Given the description of an element on the screen output the (x, y) to click on. 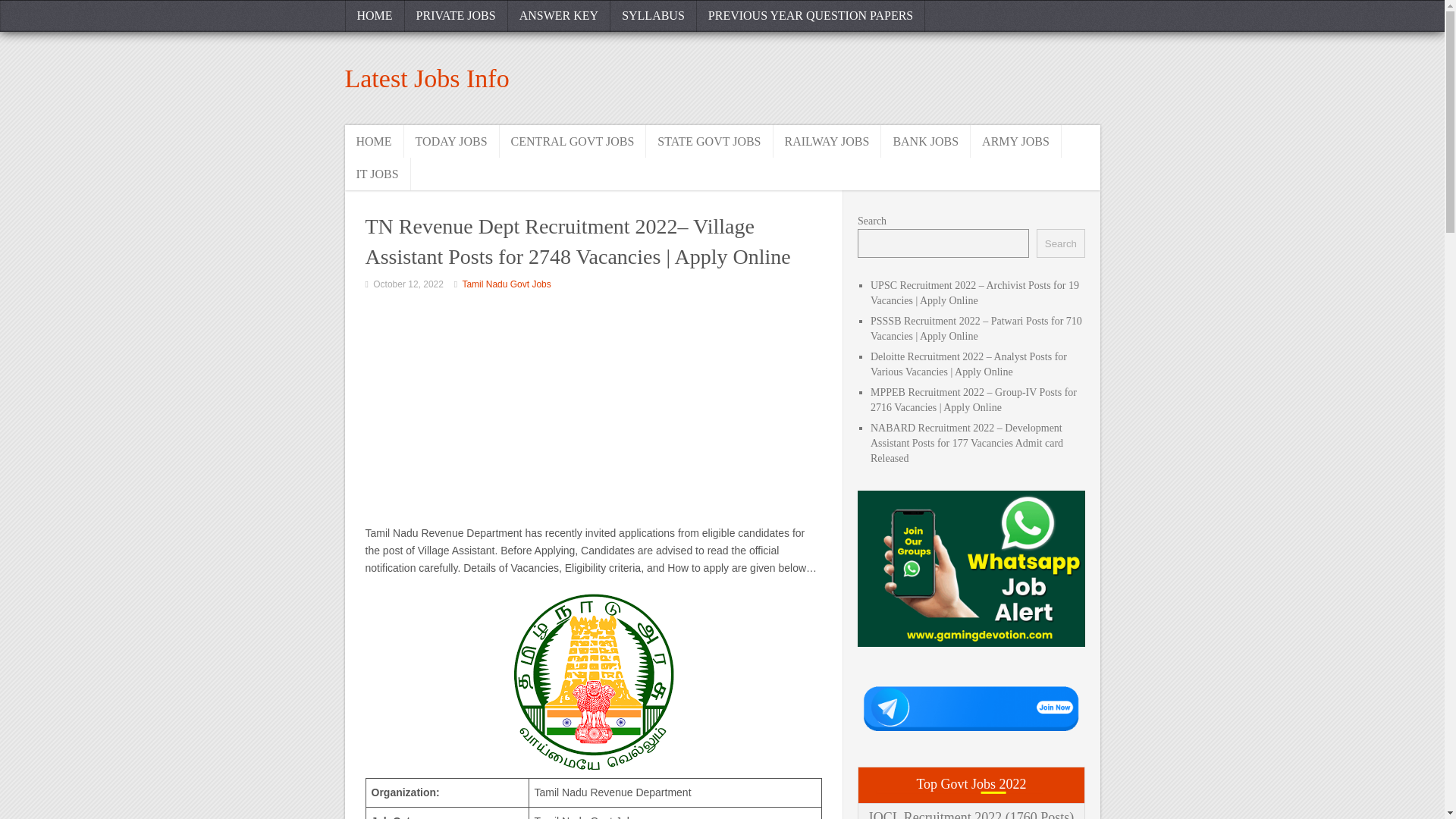
Search (1060, 243)
Tamil Nadu Govt Jobs (505, 284)
IT JOBS (376, 174)
HOME (373, 141)
BANK JOBS (925, 141)
ANSWER KEY (559, 15)
SYLLABUS (653, 15)
PREVIOUS YEAR QUESTION PAPERS (810, 15)
Advertisement (593, 410)
CENTRAL GOVT JOBS (572, 141)
